Given the description of an element on the screen output the (x, y) to click on. 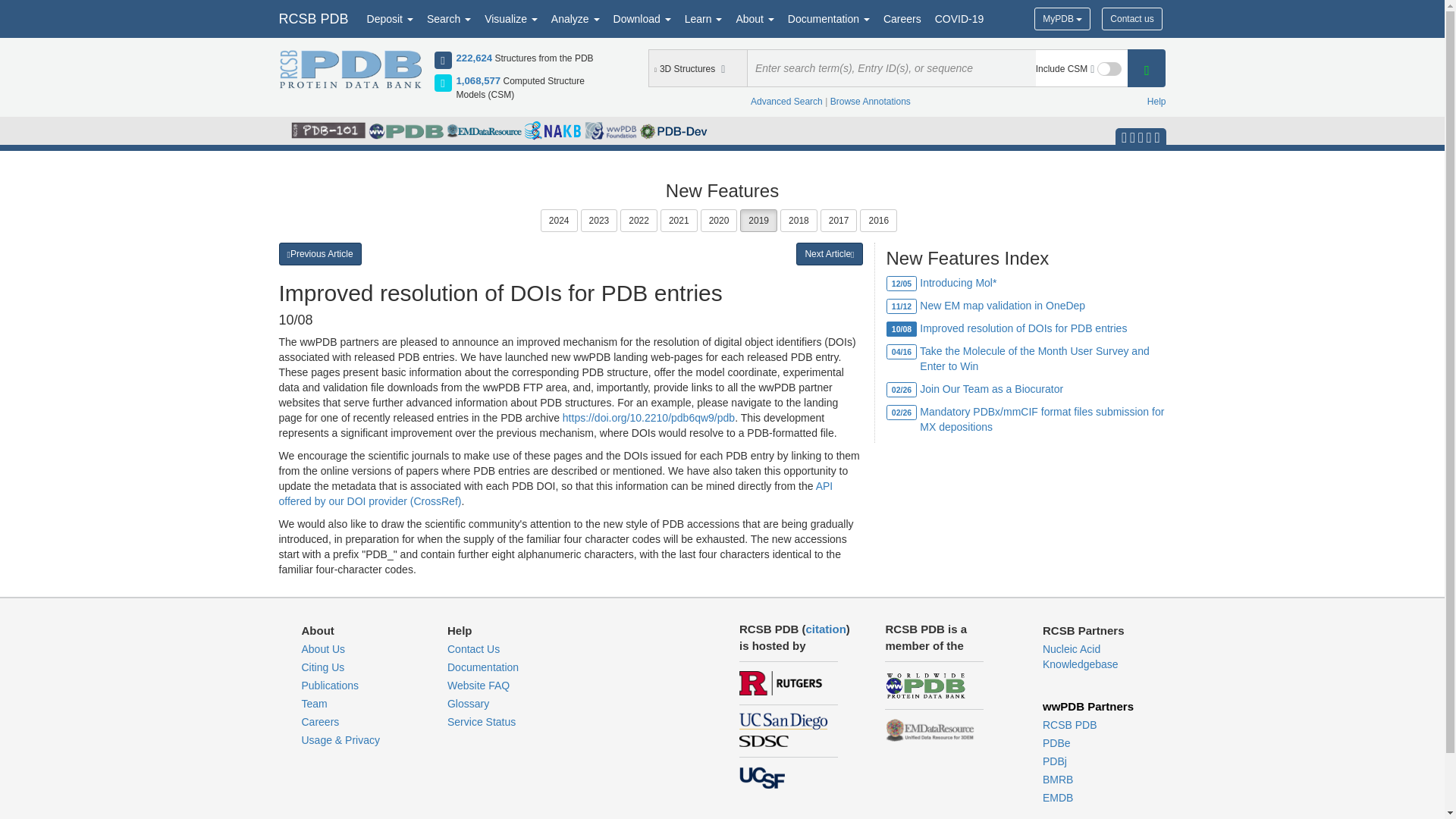
Search  (448, 18)
Deposit  (389, 18)
MyPDB (1061, 18)
RCSB PDB (312, 18)
